Given the description of an element on the screen output the (x, y) to click on. 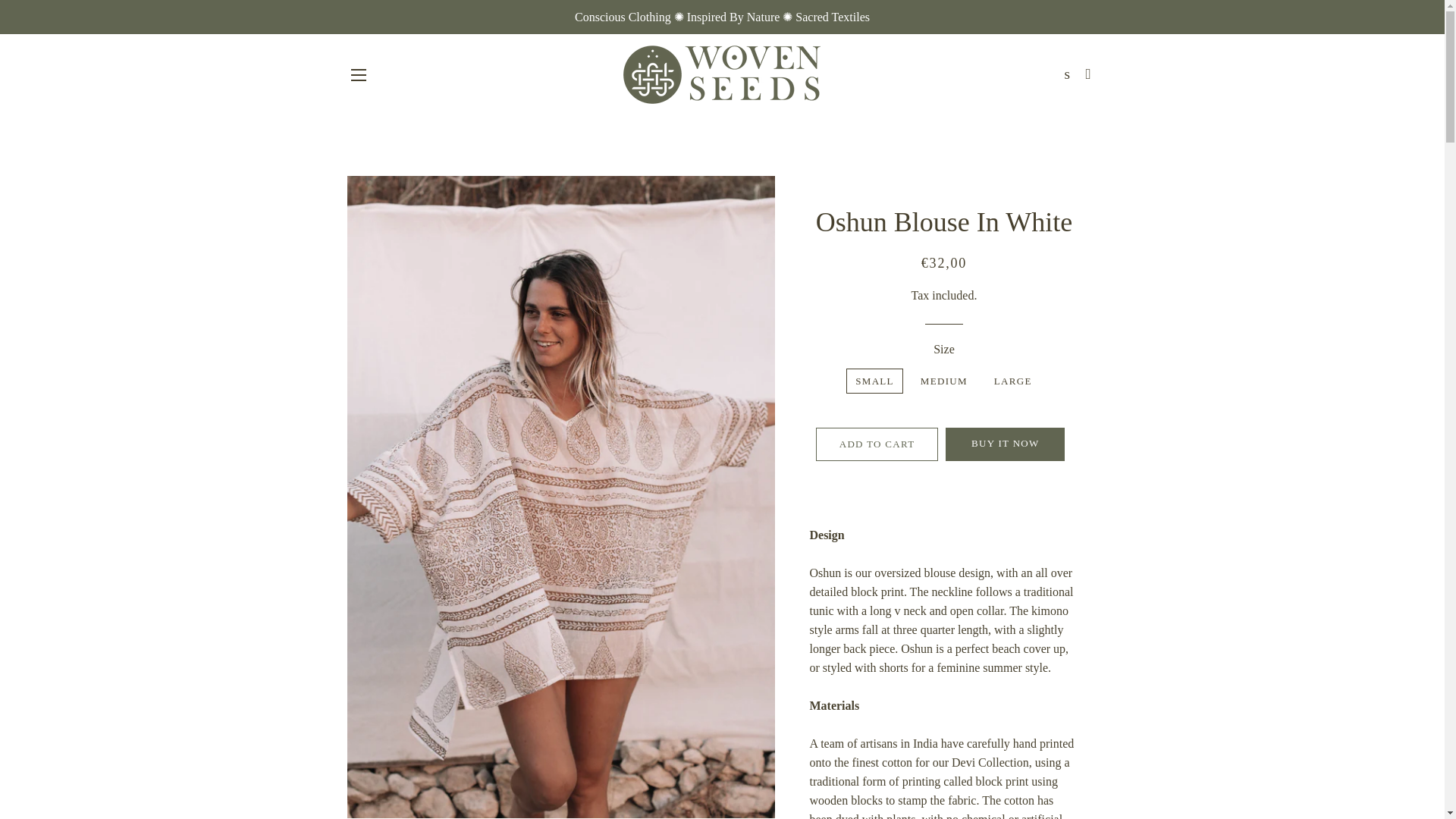
SITE NAVIGATION (358, 75)
